Given the description of an element on the screen output the (x, y) to click on. 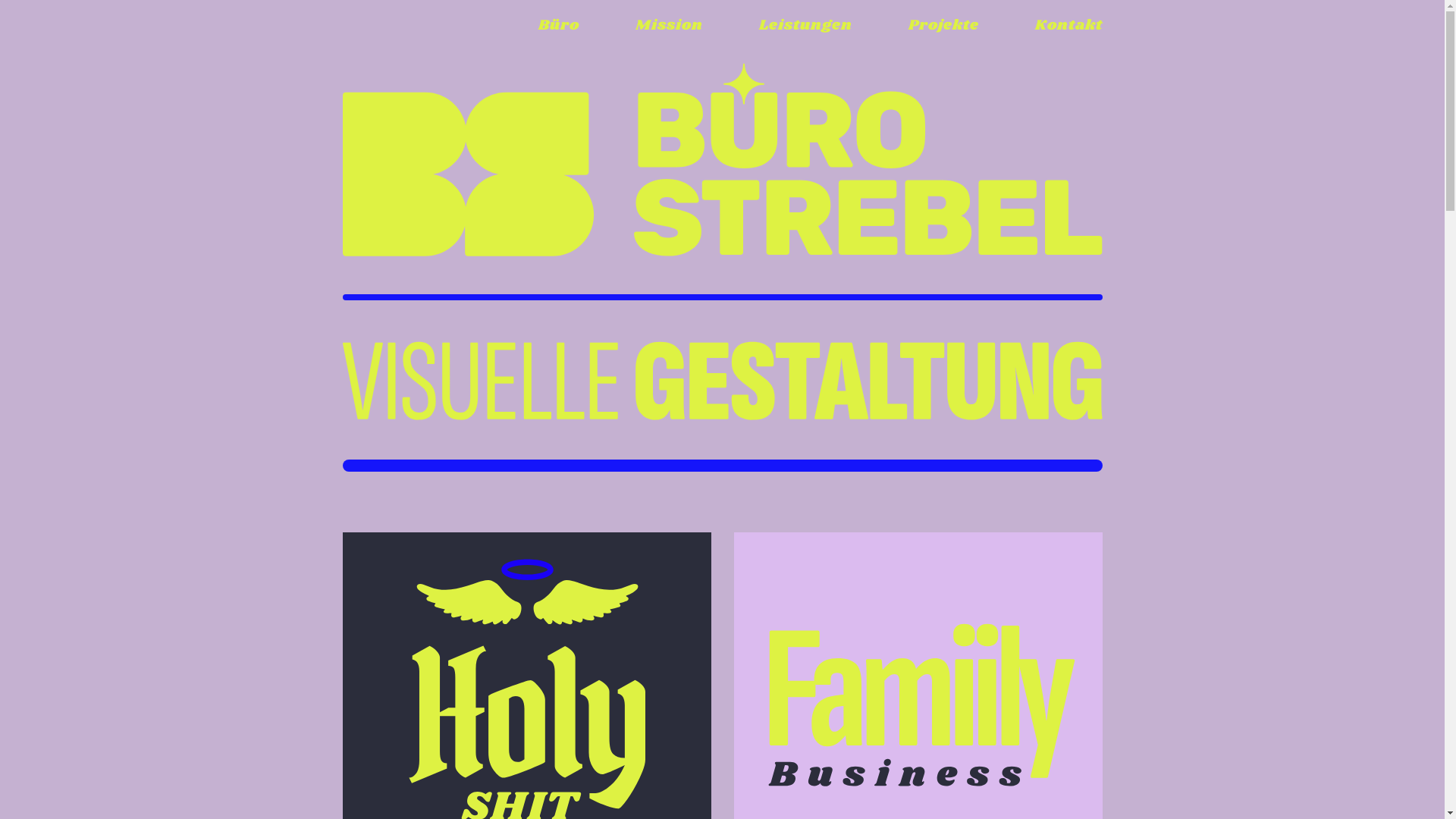
Leistungen Element type: text (804, 25)
Mission Element type: text (668, 25)
Kontakt Element type: text (1067, 25)
Projekte Element type: text (943, 25)
